Given the description of an element on the screen output the (x, y) to click on. 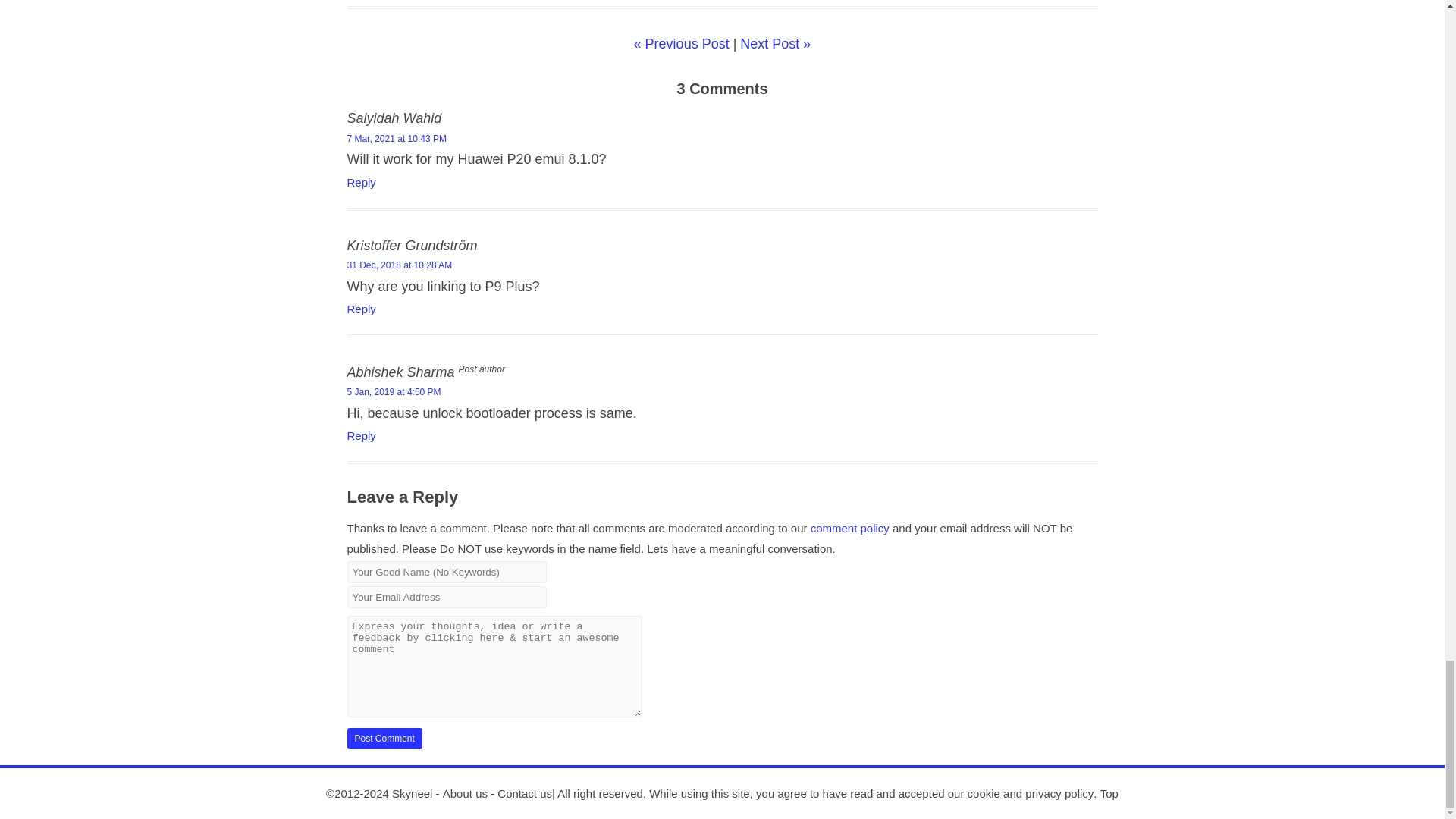
Post Comment (384, 738)
